Given the description of an element on the screen output the (x, y) to click on. 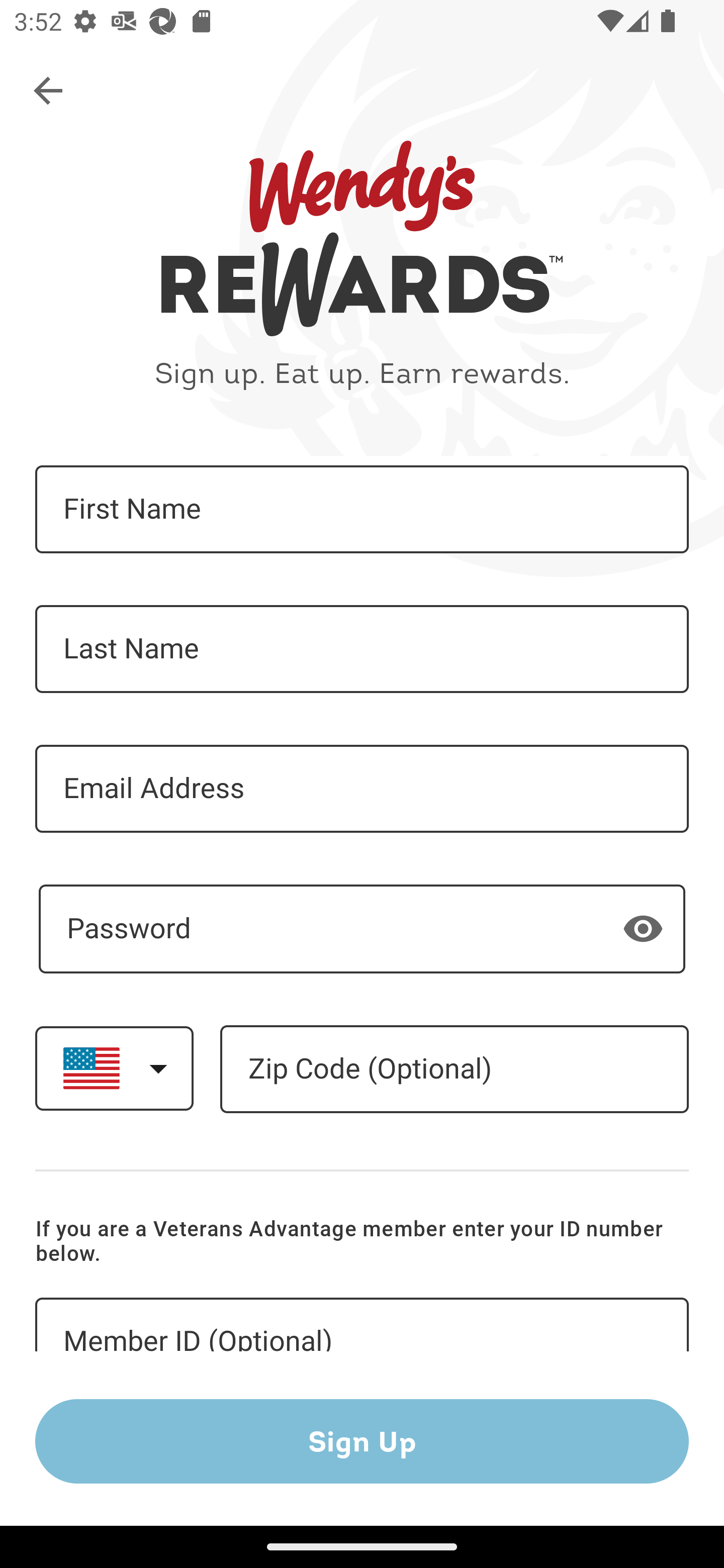
Navigate up (49, 91)
First Name - Required (361, 509)
Last Name - Required (361, 649)
Email Address - Required (361, 788)
- Required (361, 928)
Show password (642, 927)
Zip Code – Optional (454, 1069)
Select a country. United States selected. (114, 1067)
Veterans Advantage ID – Optional (361, 1324)
Sign Up (361, 1440)
